Given the description of an element on the screen output the (x, y) to click on. 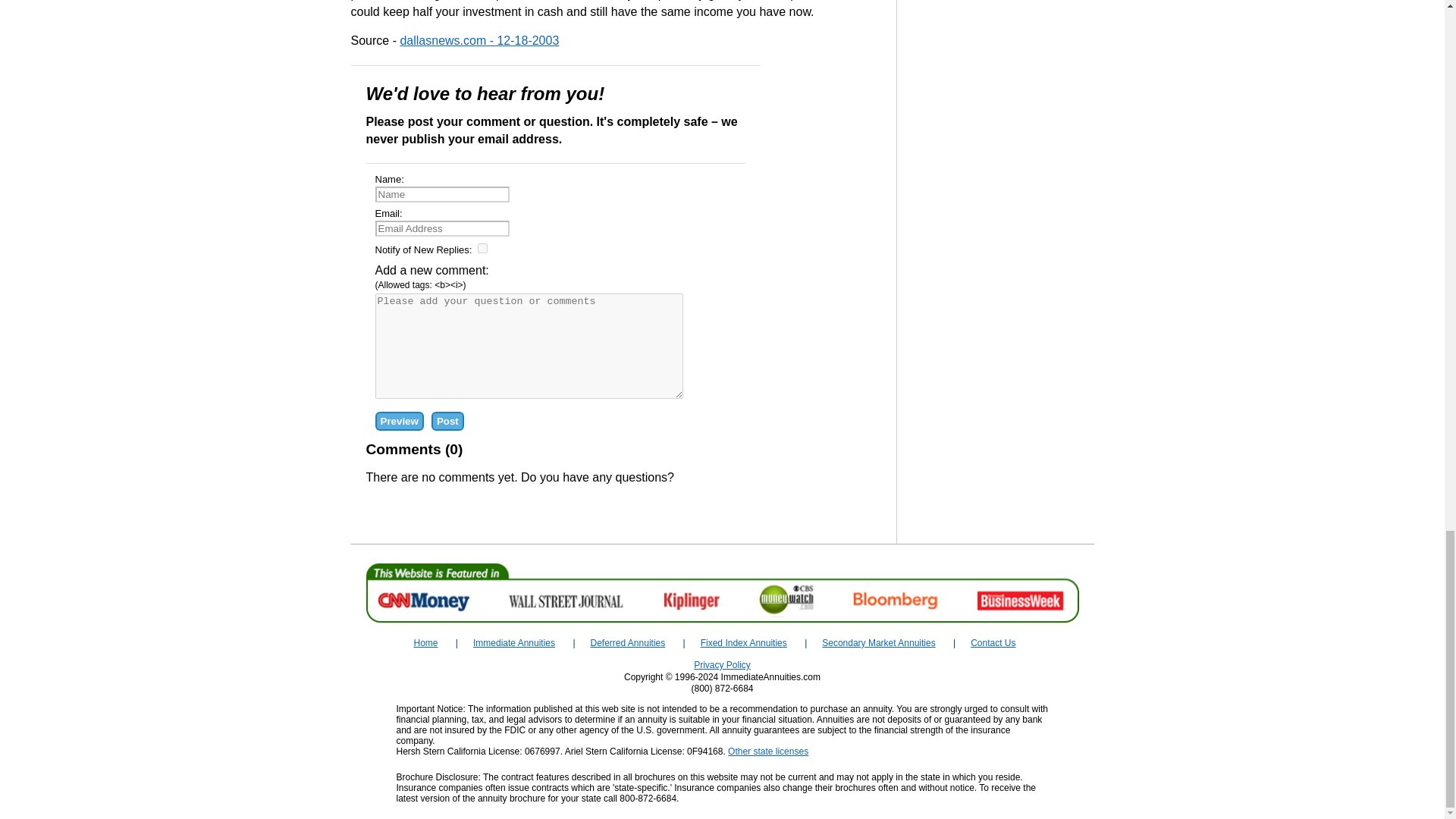
Post (447, 420)
Preview (398, 420)
1 (482, 248)
